Given the description of an element on the screen output the (x, y) to click on. 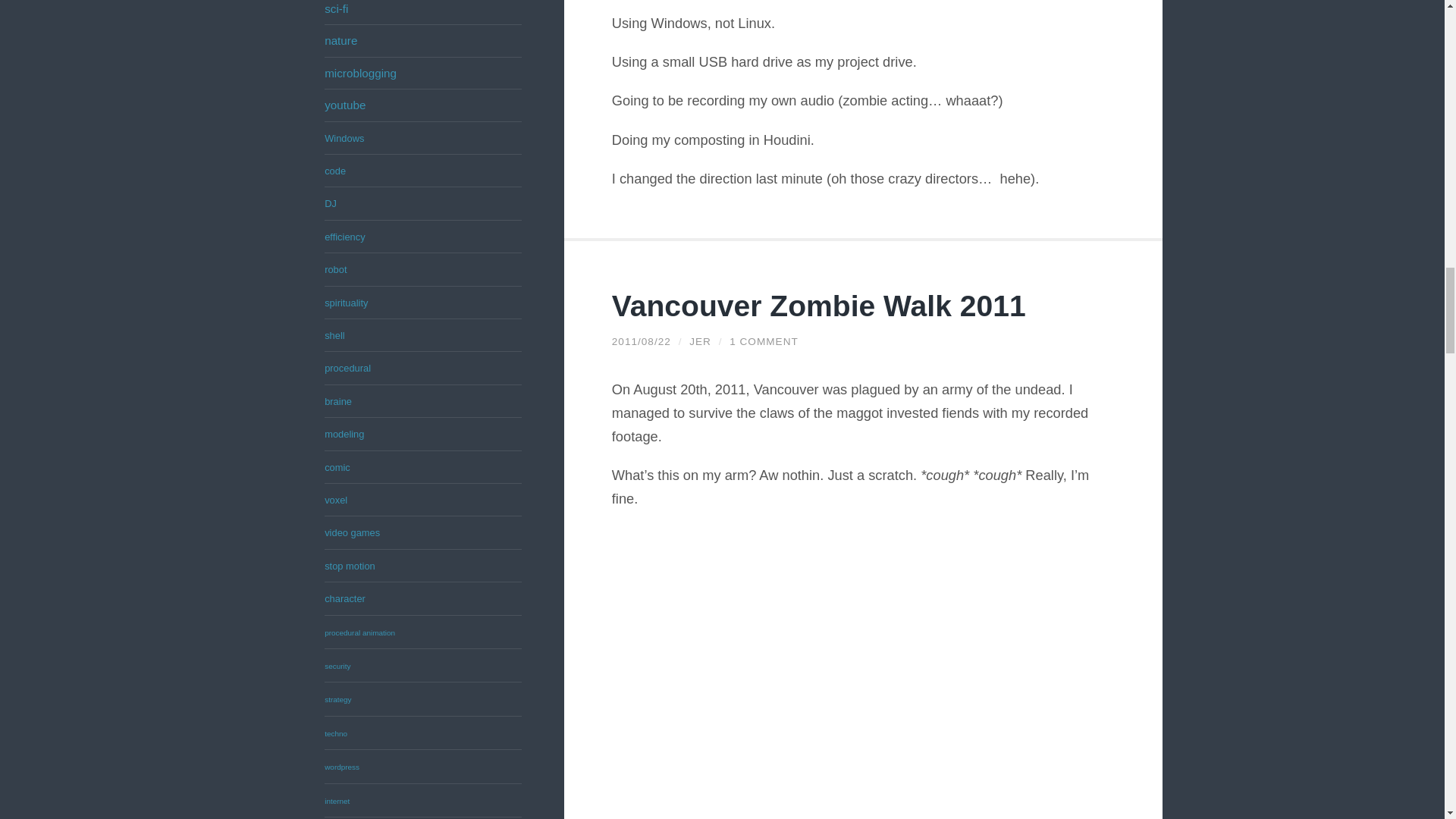
Vancouver Zombie Walk 2011 (818, 305)
